Given the description of an element on the screen output the (x, y) to click on. 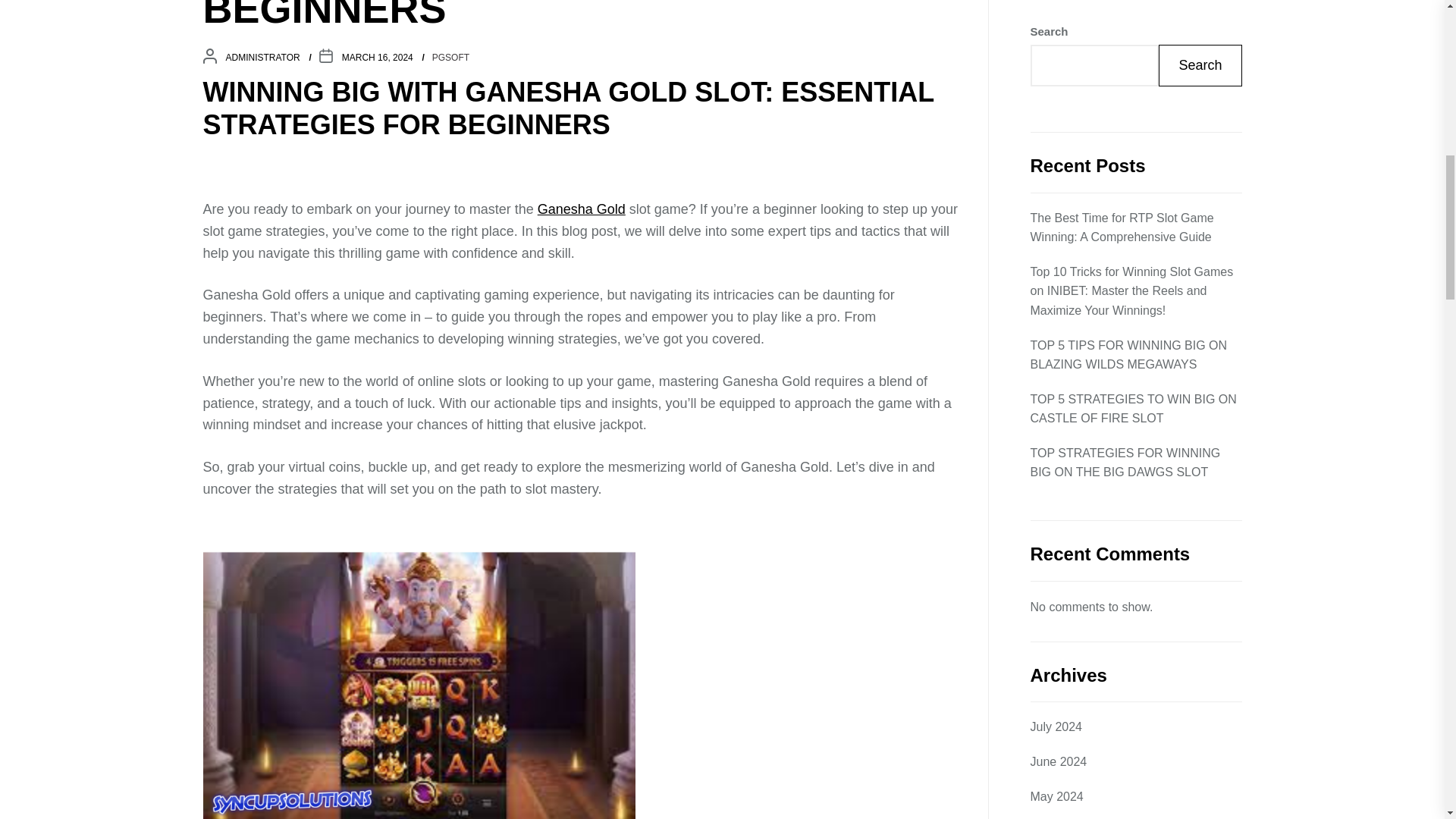
JOKER GAMING (1075, 456)
PRAGMATIC PLAY (1081, 526)
PGSOFT (1054, 492)
ADMINISTRATOR (262, 57)
June 2024 (1057, 150)
PGSOFT (450, 57)
HABANERO (1063, 423)
March 2024 (1061, 254)
Ganesha Gold (581, 209)
April 2024 (1056, 219)
AISGAMING (1064, 388)
July 2024 (1055, 116)
MARCH 16, 2024 (377, 57)
May 2024 (1056, 185)
